Given the description of an element on the screen output the (x, y) to click on. 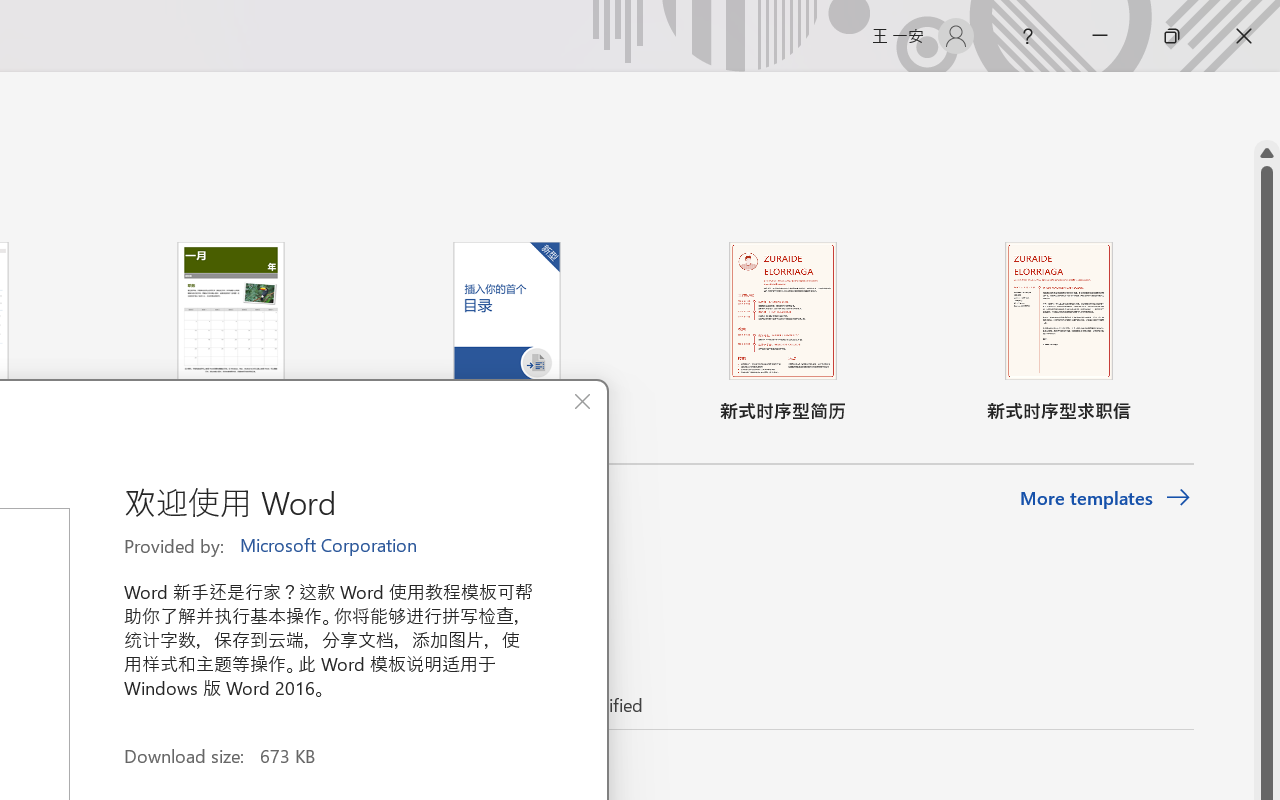
Line up (1267, 153)
More templates (1105, 498)
Microsoft Corporation (330, 546)
